Given the description of an element on the screen output the (x, y) to click on. 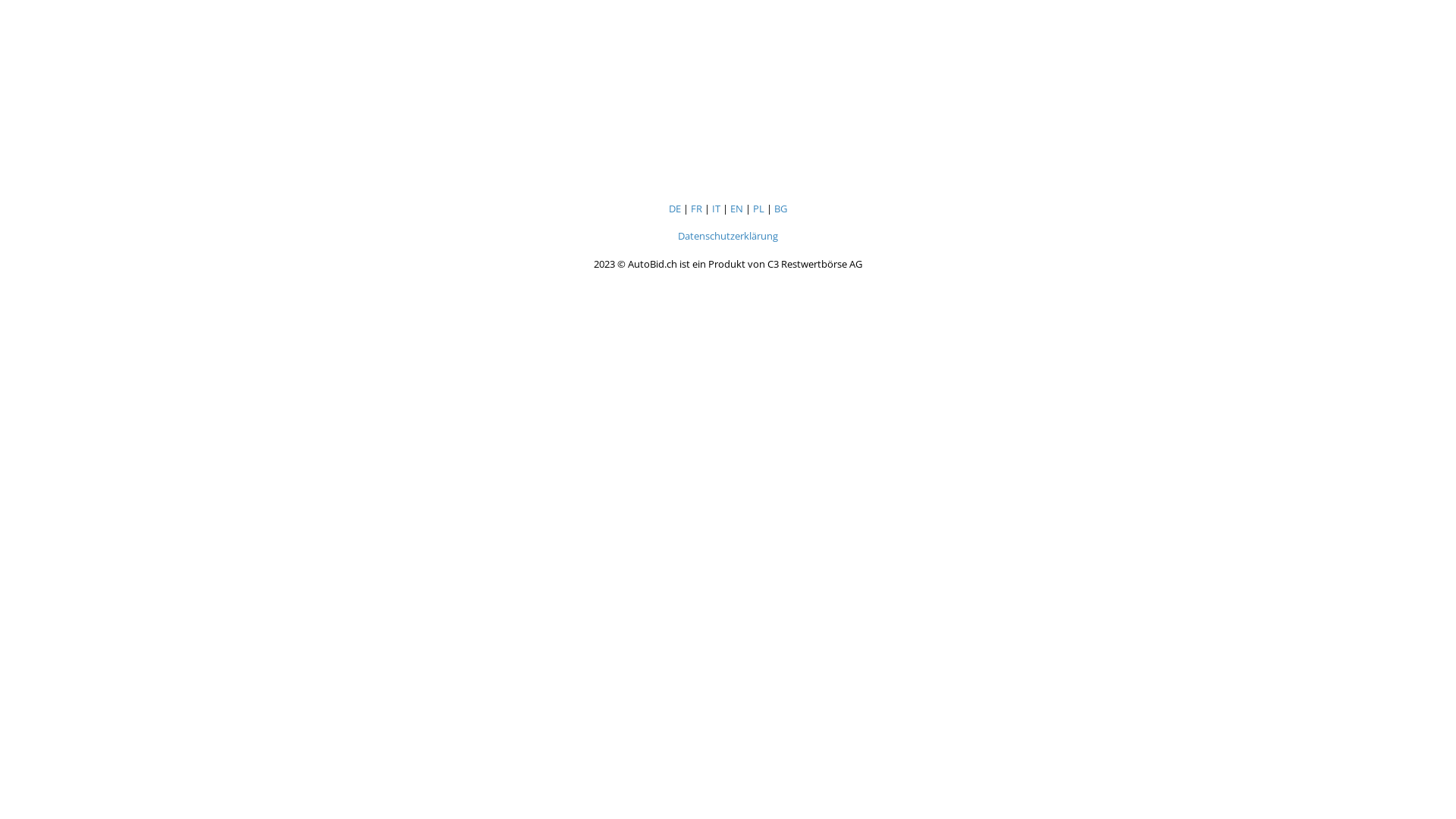
DE Element type: text (674, 208)
PL Element type: text (758, 208)
BG Element type: text (780, 208)
EN Element type: text (736, 208)
FR Element type: text (696, 208)
IT Element type: text (716, 208)
